Given the description of an element on the screen output the (x, y) to click on. 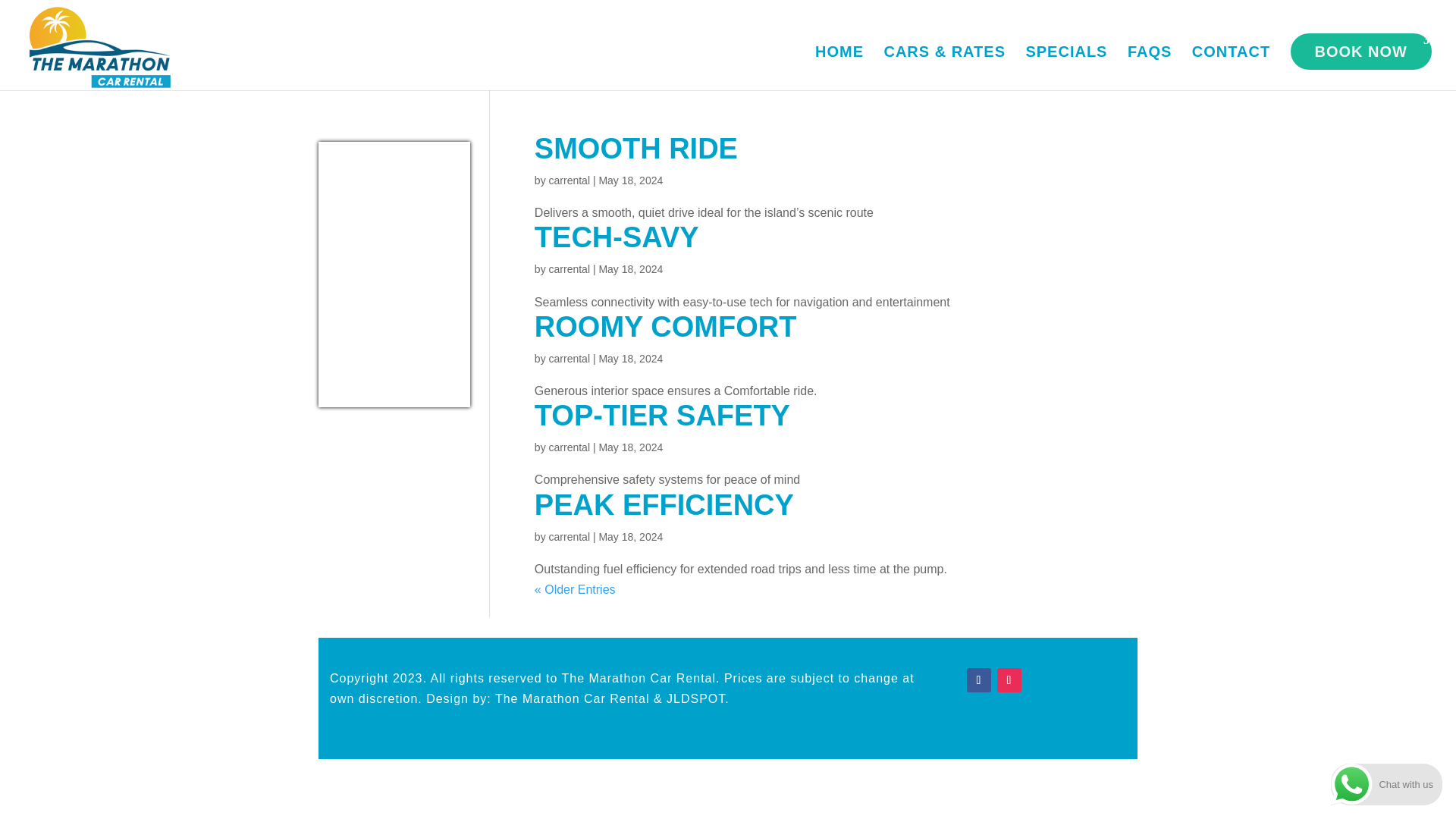
Posts by carrental (568, 268)
carrental (568, 536)
HOME (839, 67)
CONTACT (1230, 67)
Posts by carrental (568, 180)
carrental (568, 268)
Posts by carrental (568, 536)
Follow on Facebook (978, 680)
TECH-SAVY (616, 237)
Posts by carrental (568, 447)
carrental (568, 447)
PEAK EFFICIENCY (663, 504)
carrental (568, 180)
BOOK NOW (1360, 51)
Posts by carrental (568, 358)
